Given the description of an element on the screen output the (x, y) to click on. 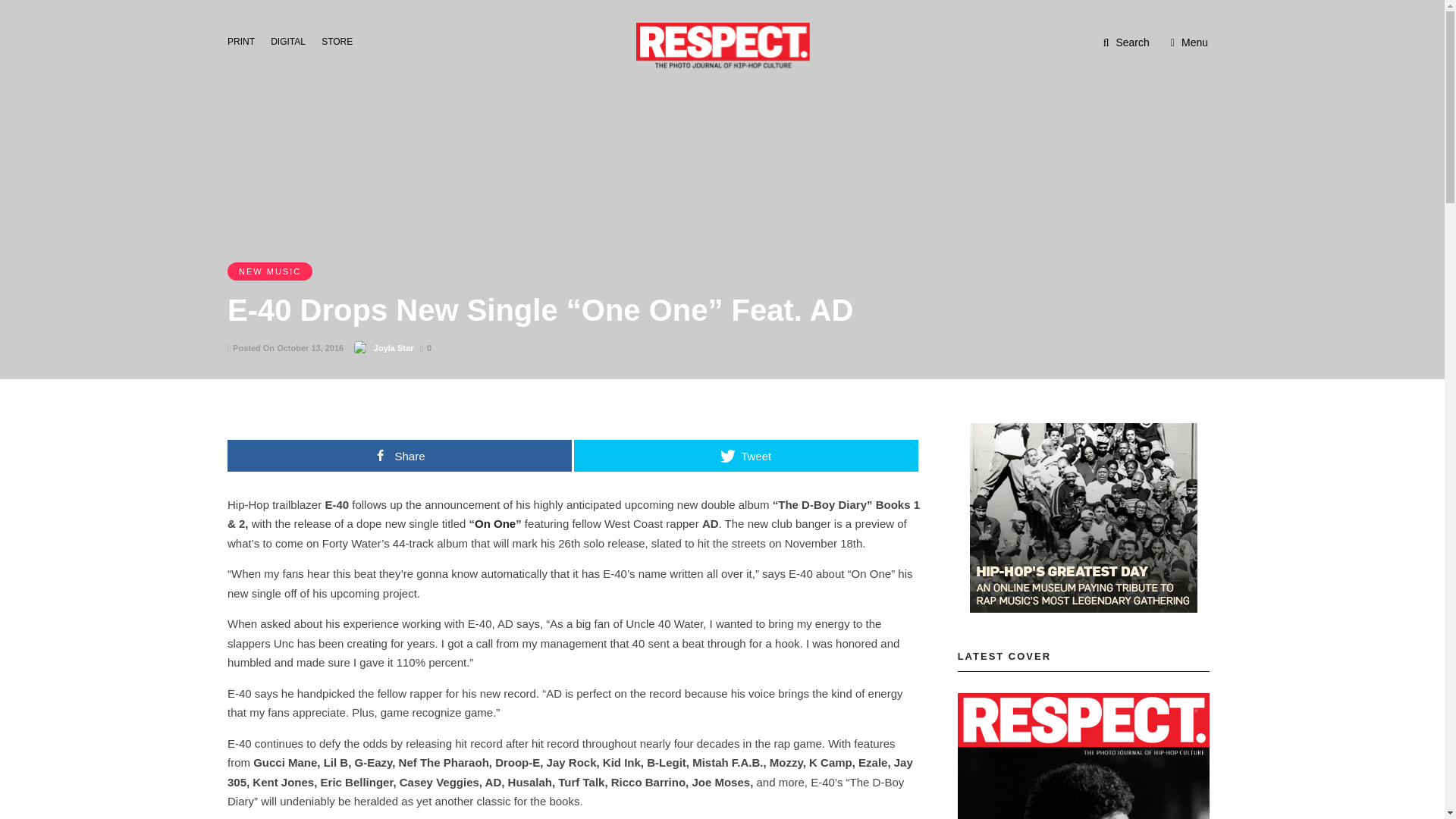
NEW MUSIC (270, 271)
STORE (341, 40)
Menu (1189, 41)
PRINT (245, 40)
DIGITAL (292, 40)
Joyla Star (393, 347)
Search (1126, 41)
